Given the description of an element on the screen output the (x, y) to click on. 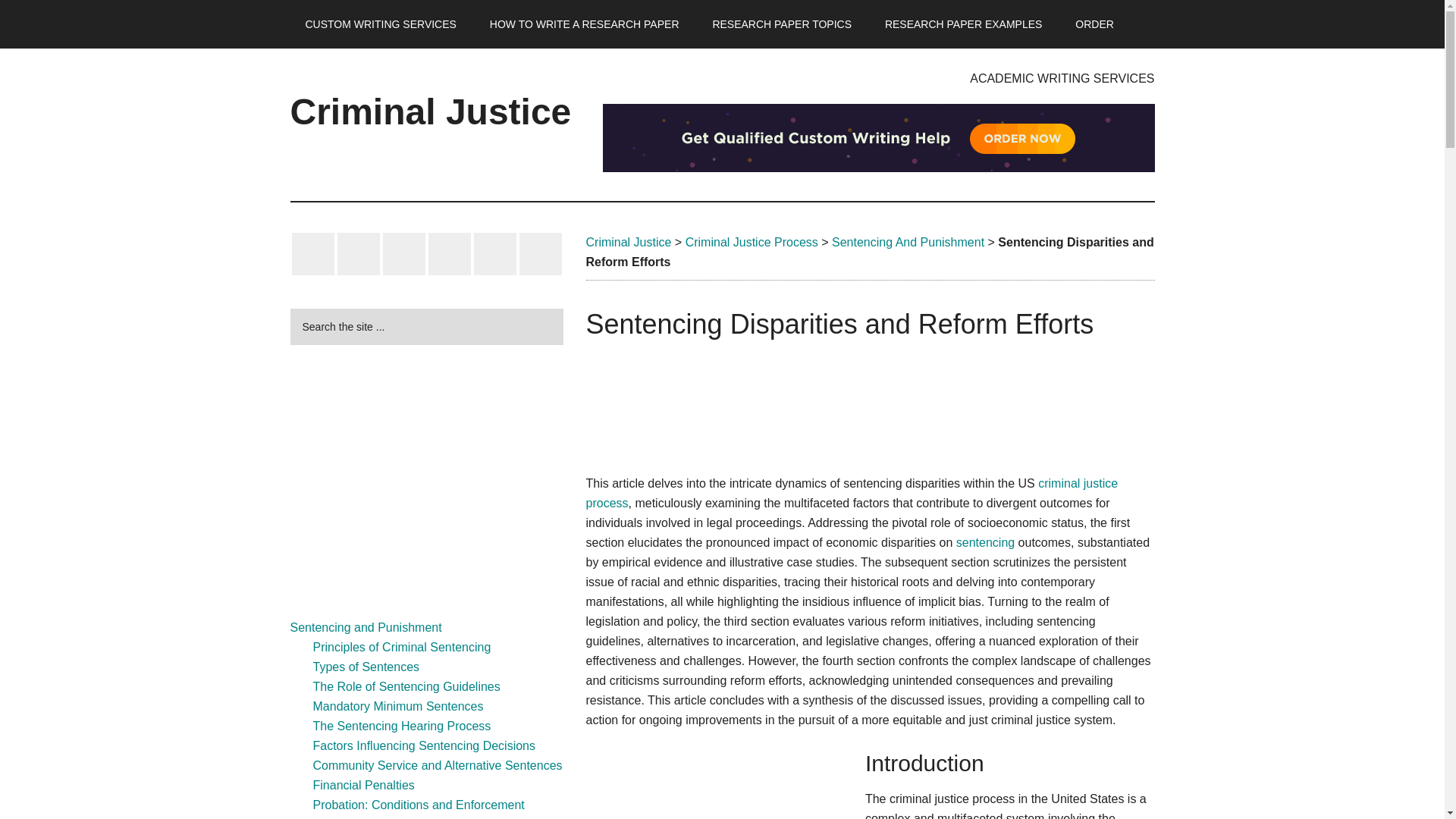
criminal justice process (851, 492)
Mandatory Minimum Sentences (398, 706)
Sentencing And Punishment (907, 241)
CUSTOM WRITING SERVICES (379, 24)
Mandatory Minimum Sentences (398, 706)
Criminal Justice Process (751, 241)
The Role of Sentencing Guidelines (406, 686)
Community Service and Alternative Sentences (437, 765)
